Given the description of an element on the screen output the (x, y) to click on. 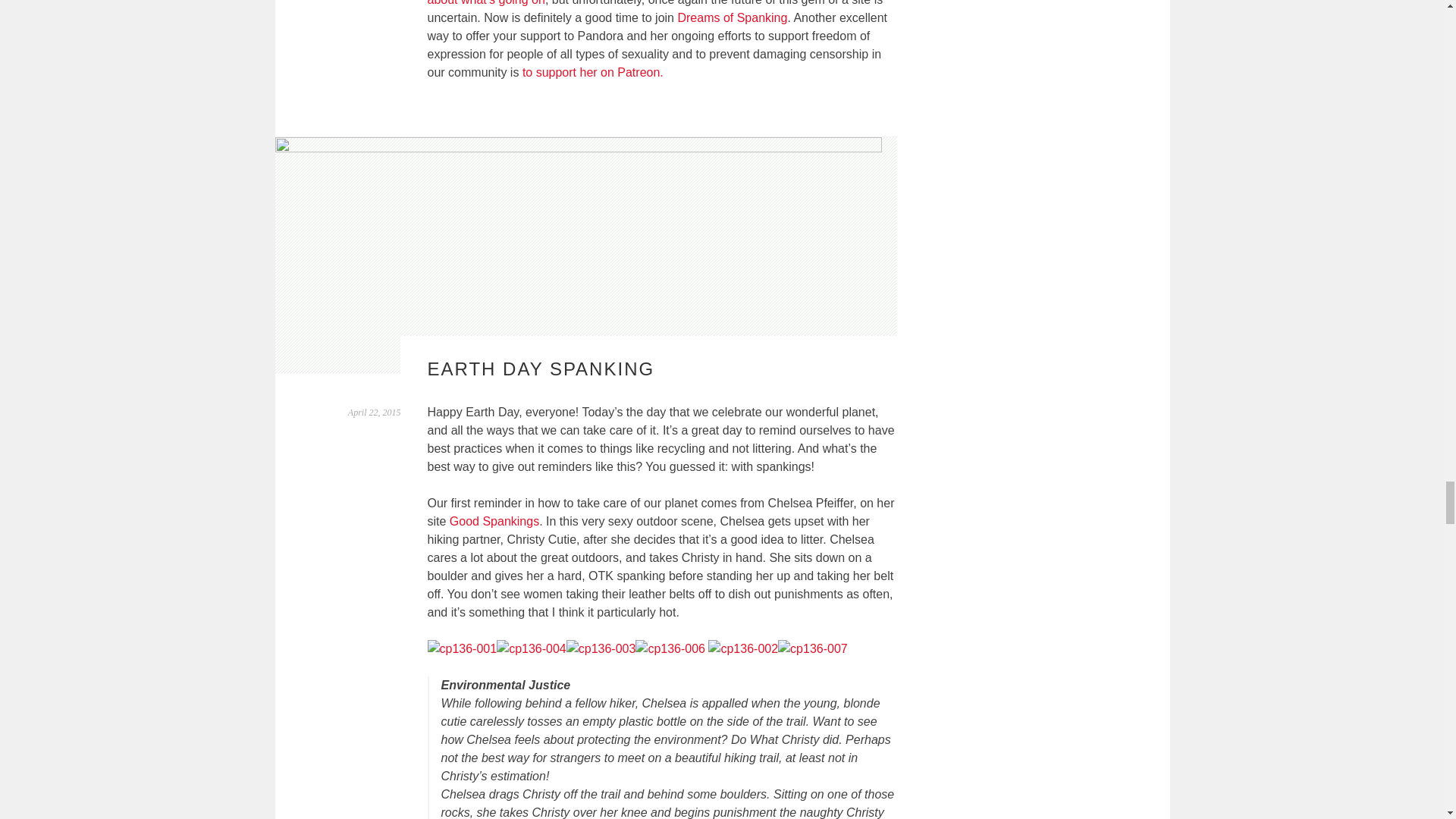
Permalink to Earth Day Spanking (374, 412)
